Given the description of an element on the screen output the (x, y) to click on. 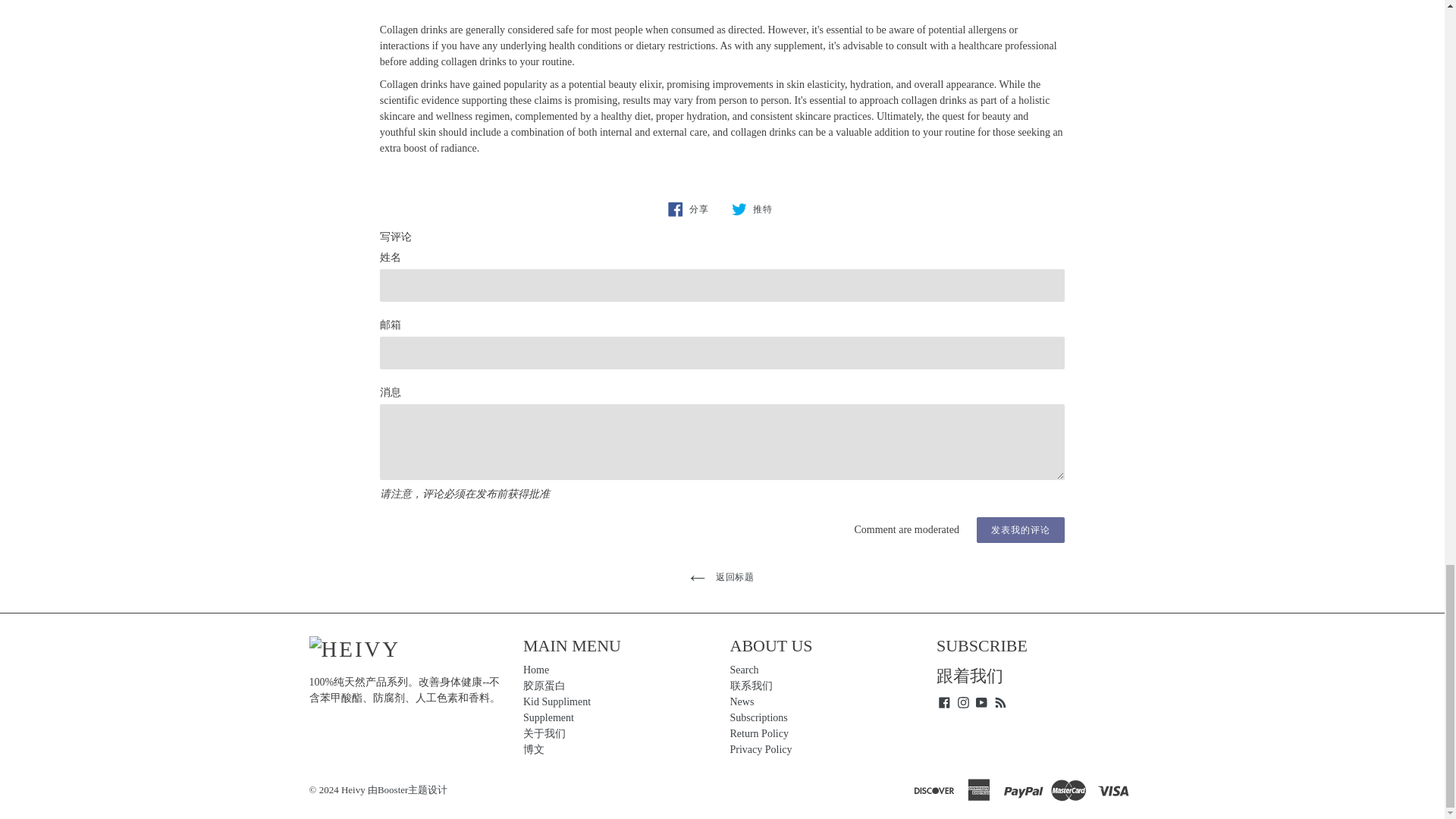
discover (935, 788)
paypal (1025, 788)
visa (1114, 788)
american express (980, 788)
